Given the description of an element on the screen output the (x, y) to click on. 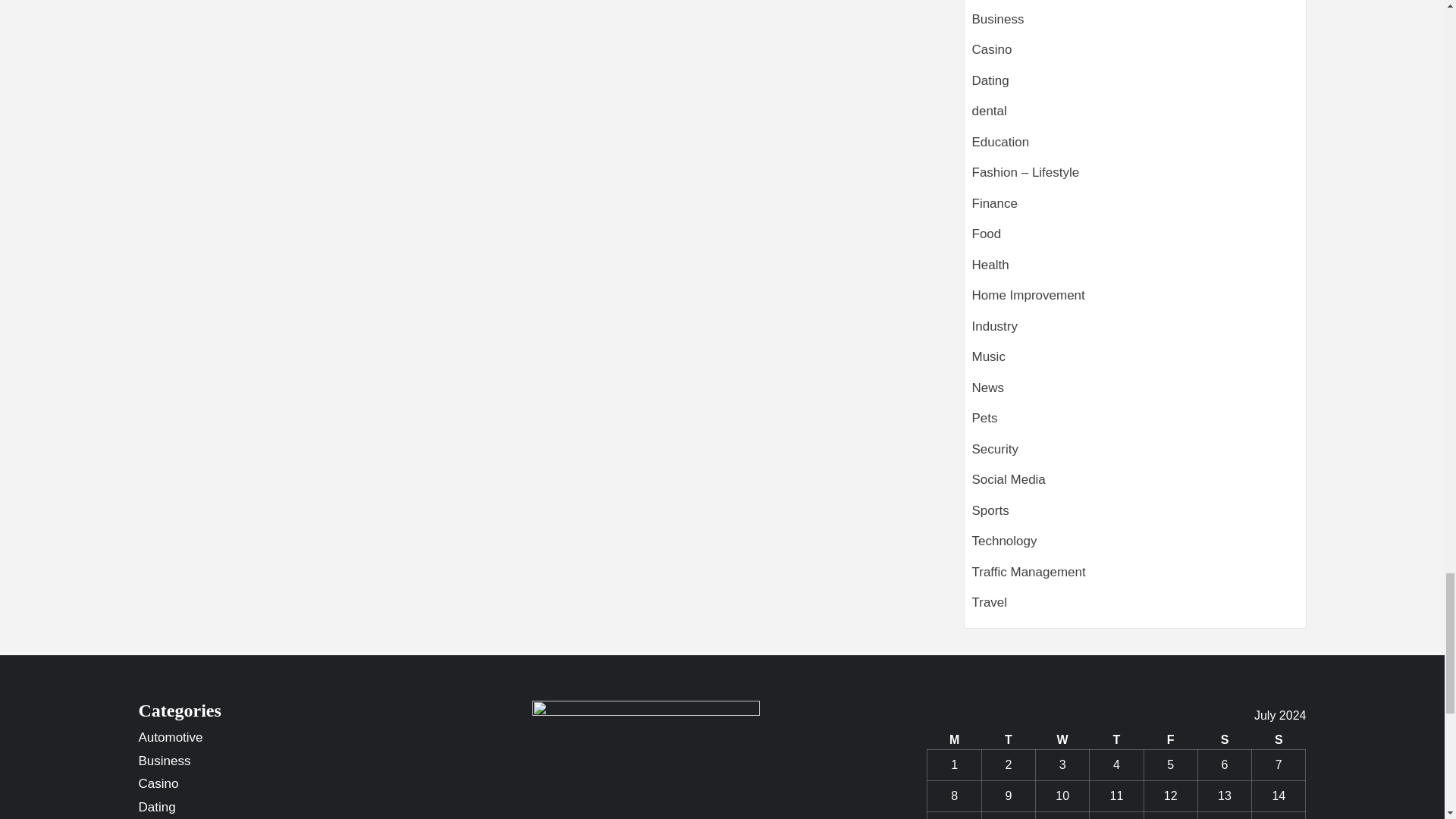
Thursday (1115, 740)
Friday (1169, 740)
Tuesday (1008, 740)
Wednesday (1062, 740)
Monday (954, 740)
Saturday (1223, 740)
Sunday (1279, 740)
